Given the description of an element on the screen output the (x, y) to click on. 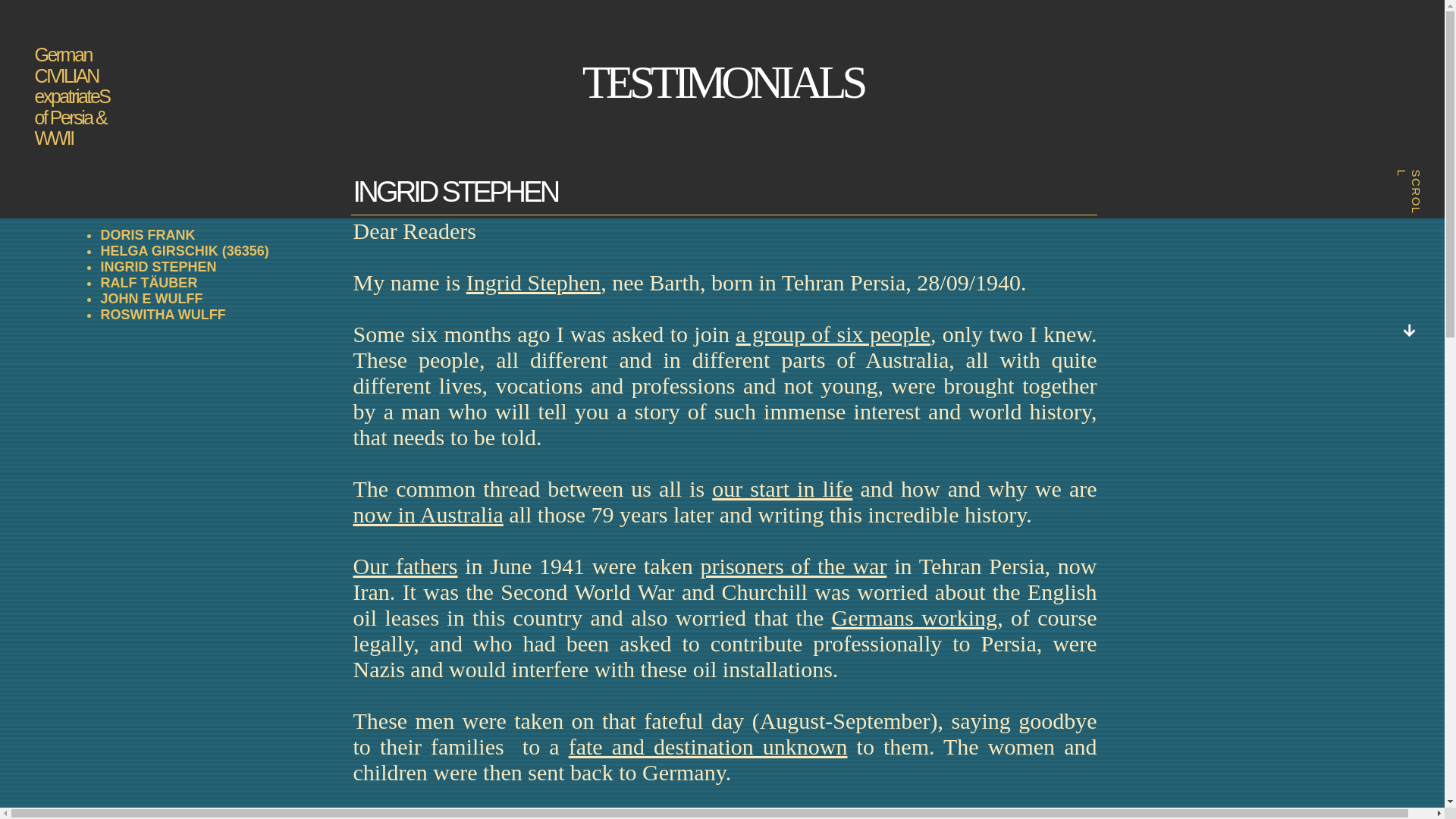
ROSWITHA WULFF (162, 314)
a group of six people (832, 333)
TESTIMONIALS (722, 81)
now in Australia (428, 514)
Our fathers (405, 565)
fate and destination unknown (708, 746)
prisoners of the war (793, 565)
INGRID STEPHEN (157, 266)
DORIS FRANK (147, 234)
JOHN E WULFF (151, 298)
our start in life (781, 488)
Ingrid Stephen (532, 282)
Germans working (914, 617)
